Given the description of an element on the screen output the (x, y) to click on. 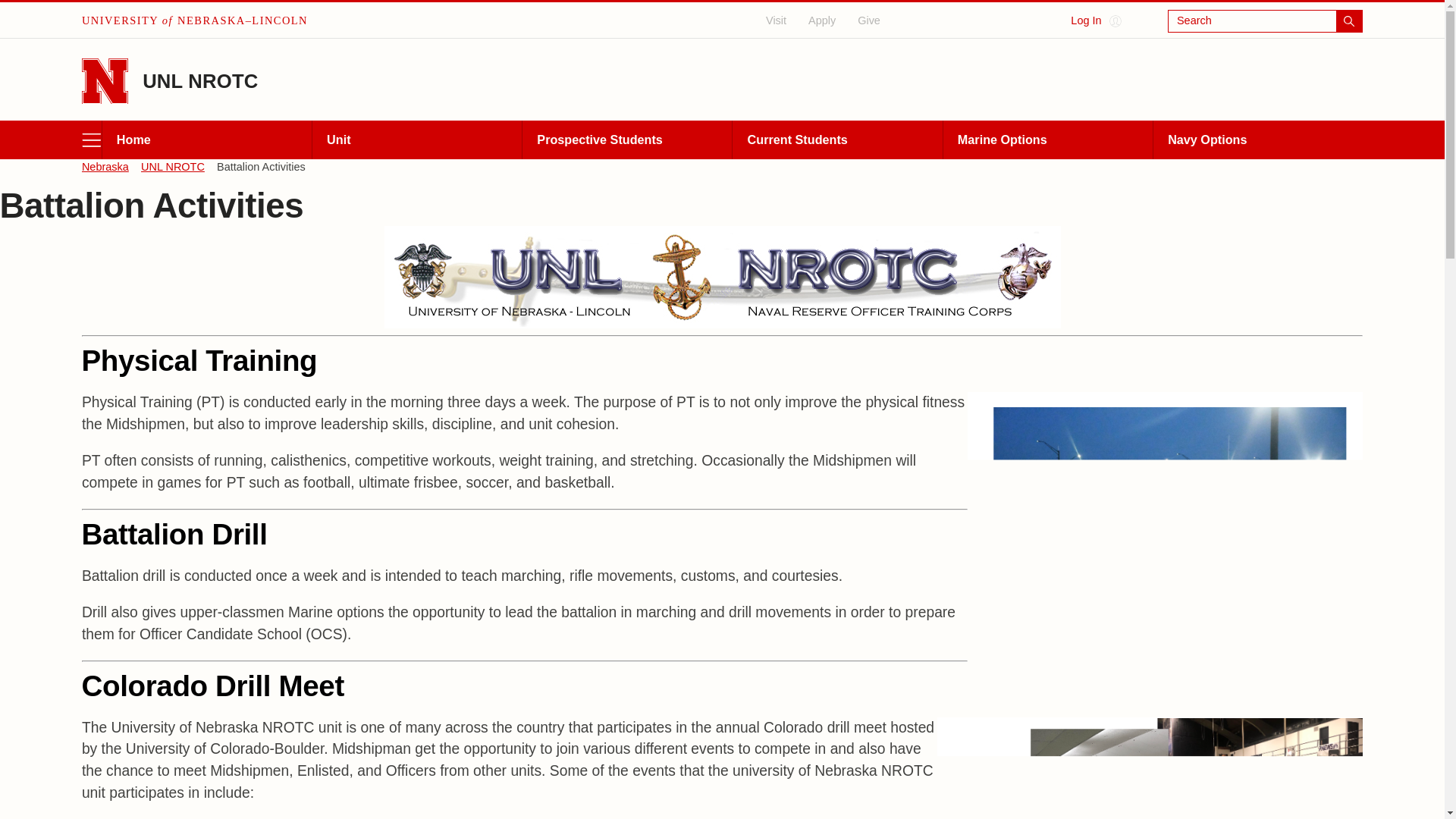
Visit (776, 20)
Prospective Students (626, 139)
Skip to main content (13, 10)
Home (206, 139)
Apply (822, 20)
Give (869, 20)
Log In (1095, 21)
UNL NROTC (199, 79)
Marine Options (1047, 139)
Search (1264, 21)
Unit (416, 139)
Current Students (837, 139)
Navy Options (1257, 139)
